Given the description of an element on the screen output the (x, y) to click on. 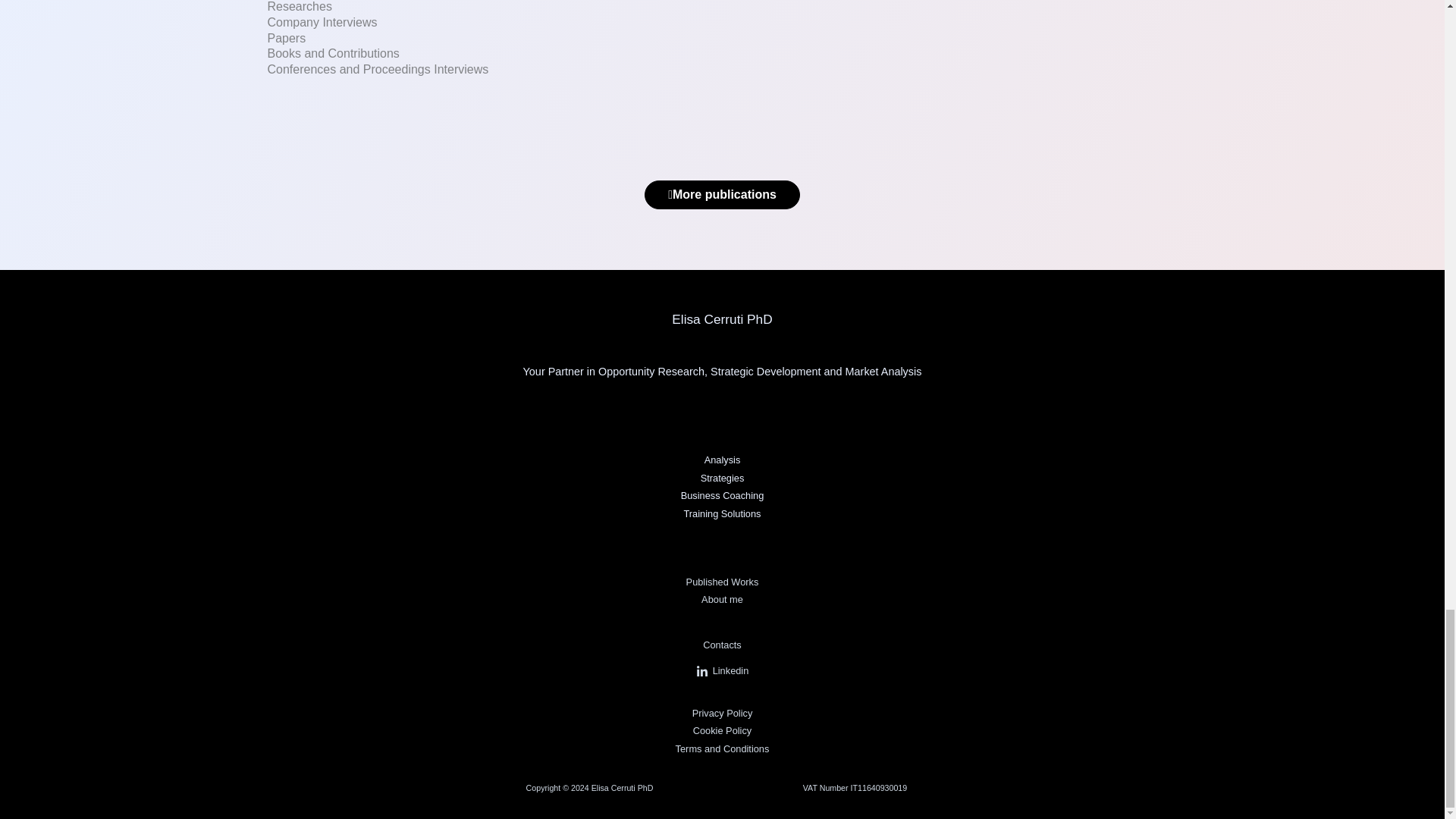
Terms and Conditions  (722, 748)
Business Coaching (722, 495)
More publications (722, 194)
Contacts (722, 644)
About me (721, 599)
Published Works (721, 582)
Terms and Conditions (722, 748)
Cookie Policy  (722, 730)
Privacy Policy  (722, 713)
Privacy Policy (722, 713)
